Given the description of an element on the screen output the (x, y) to click on. 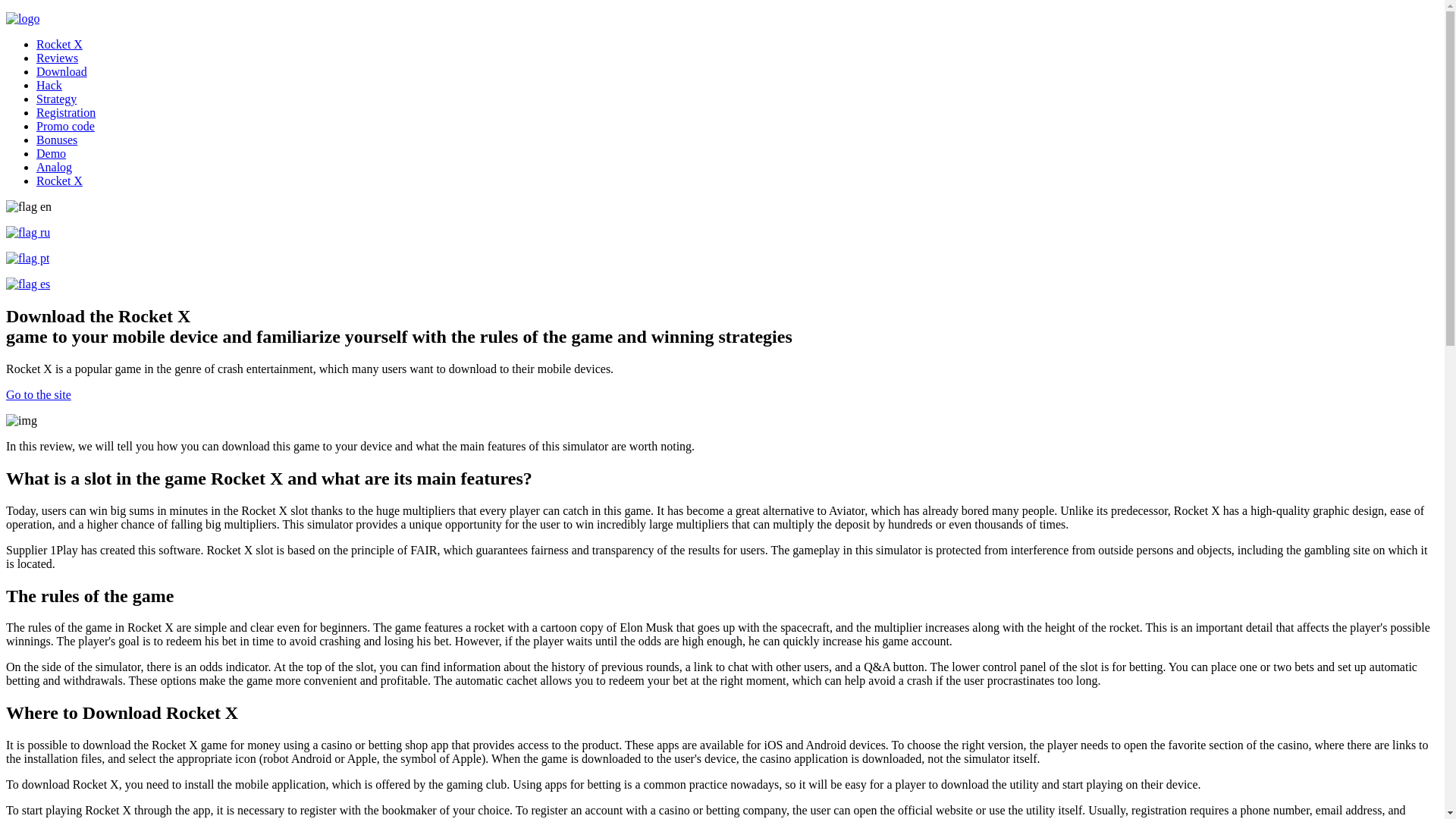
Promo code (65, 125)
Analog (53, 166)
Hack (49, 84)
Download (61, 71)
Rocket X (59, 43)
Go to the site (38, 394)
Reviews (57, 57)
Bonuses (56, 139)
Registration (66, 112)
Demo (50, 153)
